Given the description of an element on the screen output the (x, y) to click on. 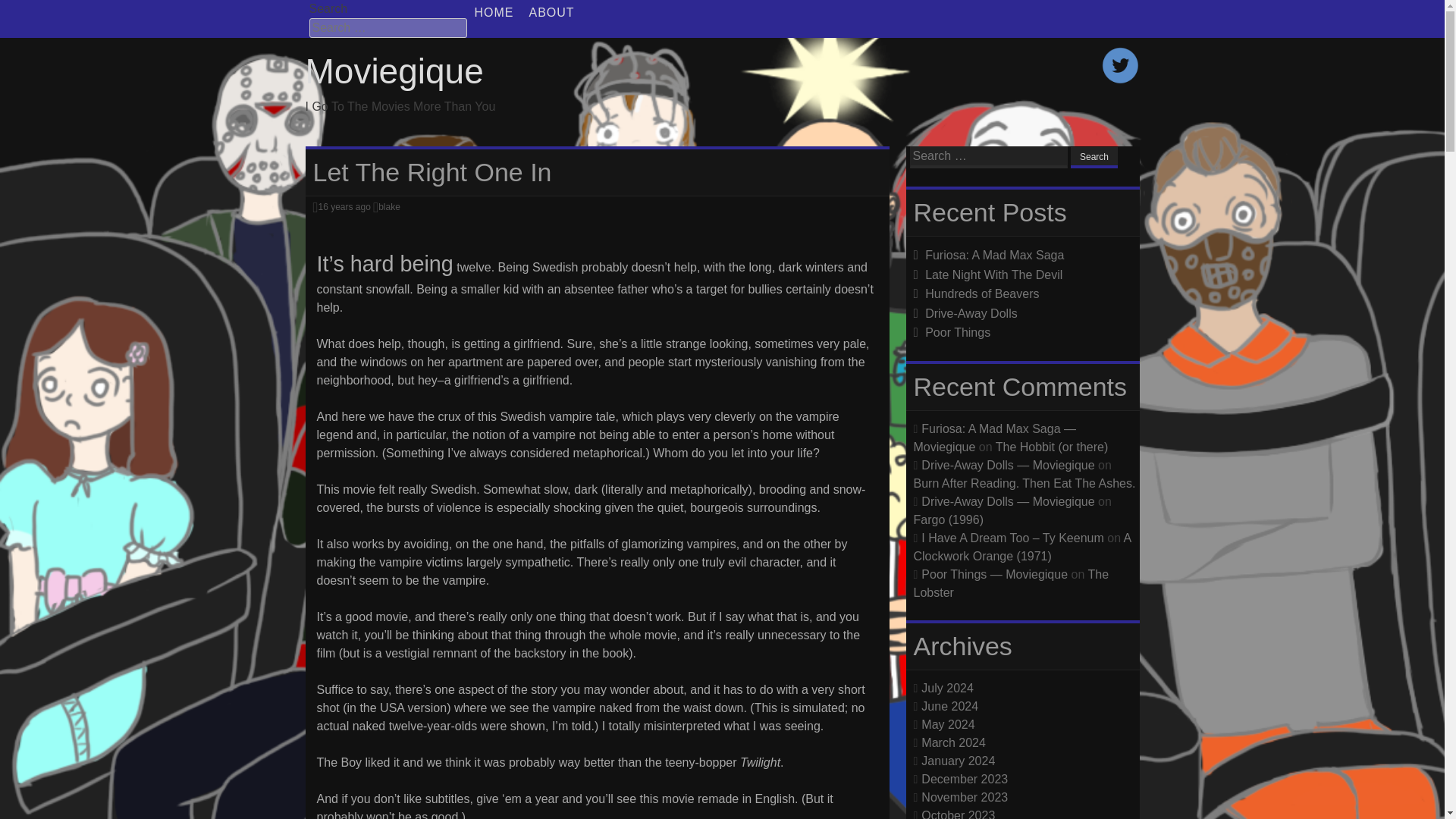
Hundreds of Beavers (981, 293)
June 2024 (949, 705)
ABOUT (551, 12)
Twitter (1118, 80)
HOME (494, 12)
Burn After Reading. Then Eat The Ashes. (1023, 481)
Search (1094, 157)
16 years ago (343, 206)
Search for: (387, 27)
Search for: (988, 157)
blake (389, 206)
Poor Things (957, 332)
July 2024 (947, 686)
Late Night With The Devil (993, 274)
May 2024 (947, 723)
